Given the description of an element on the screen output the (x, y) to click on. 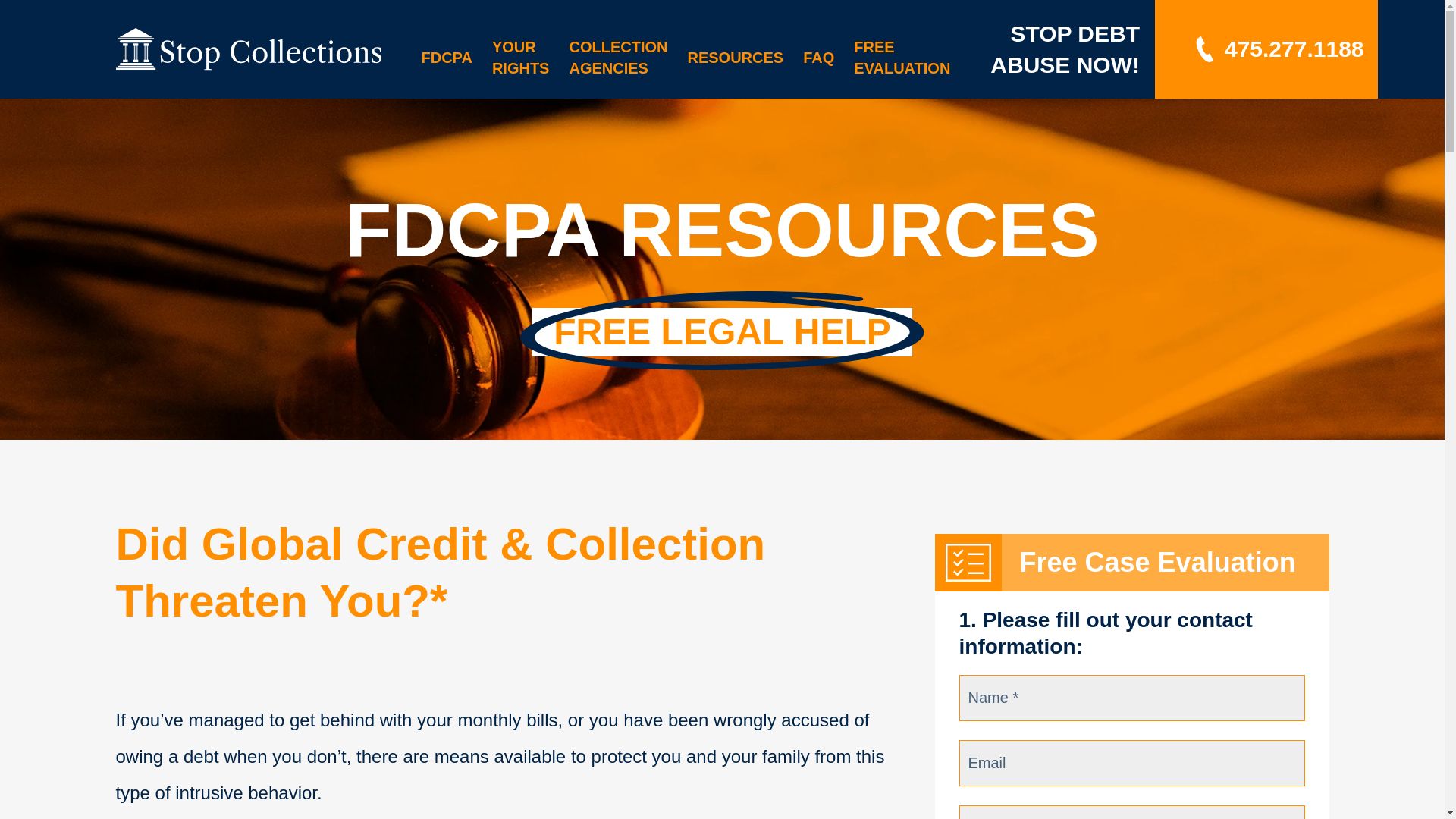
FREE LEGAL HELP (722, 331)
FDCPA (446, 57)
COLLECTION AGENCIES (617, 57)
FAQ (818, 57)
475.277.1188 (1277, 49)
YOUR RIGHTS (521, 57)
FREE EVALUATION (901, 57)
RESOURCES (735, 57)
